Given the description of an element on the screen output the (x, y) to click on. 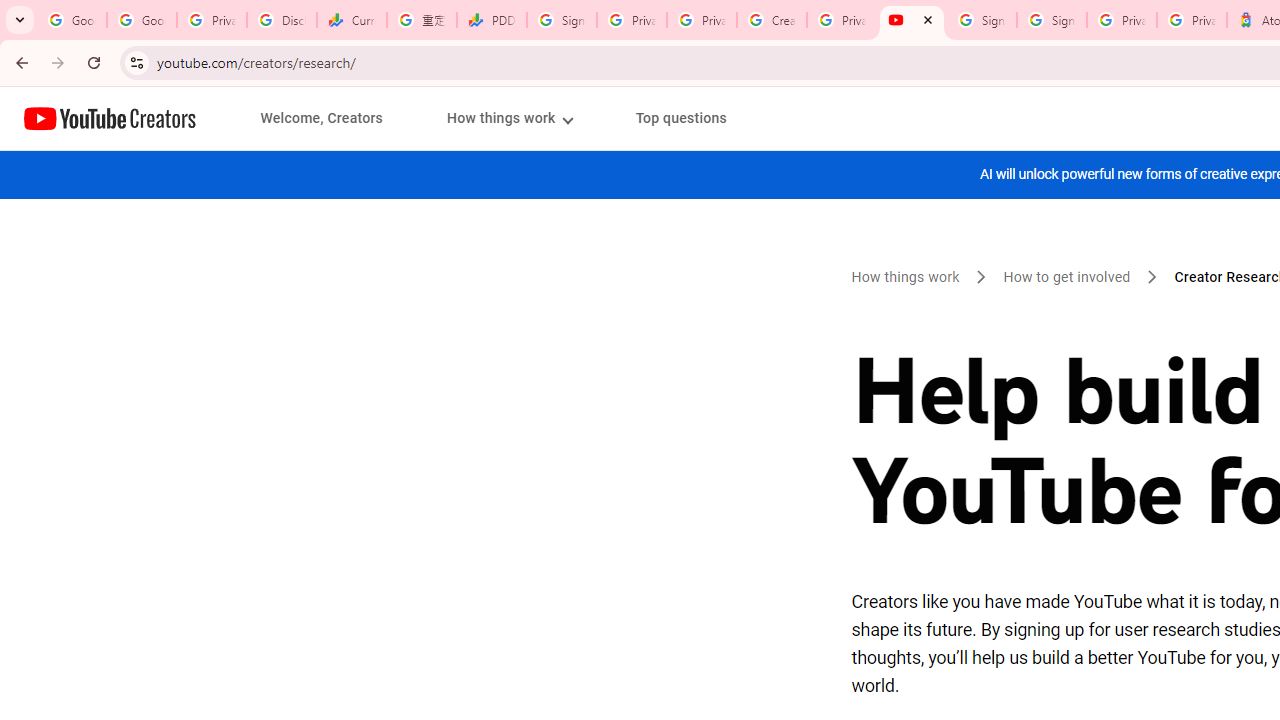
1 (509, 118)
Currencies - Google Finance (351, 20)
Top questions (680, 118)
Google Workspace Admin Community (72, 20)
How things work  (907, 277)
JUMP TO CONTENT (209, 119)
Home page (110, 118)
Create your Google Account (772, 20)
How to get involved  (1069, 277)
Community Research & User Studies - YouTube Creators (911, 20)
